Given the description of an element on the screen output the (x, y) to click on. 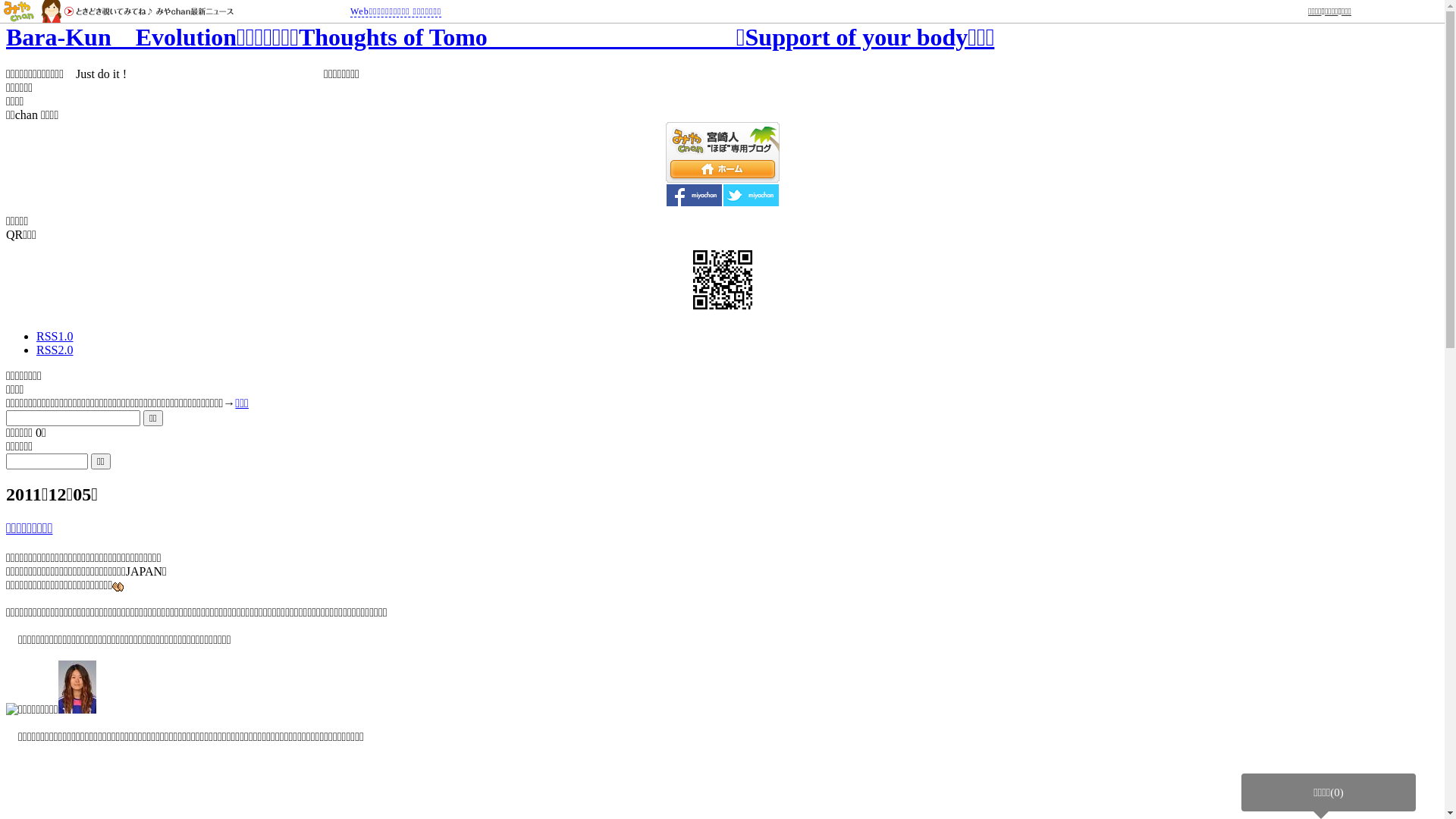
RSS1.0 Element type: text (54, 335)
RSS2.0 Element type: text (54, 349)
